Given the description of an element on the screen output the (x, y) to click on. 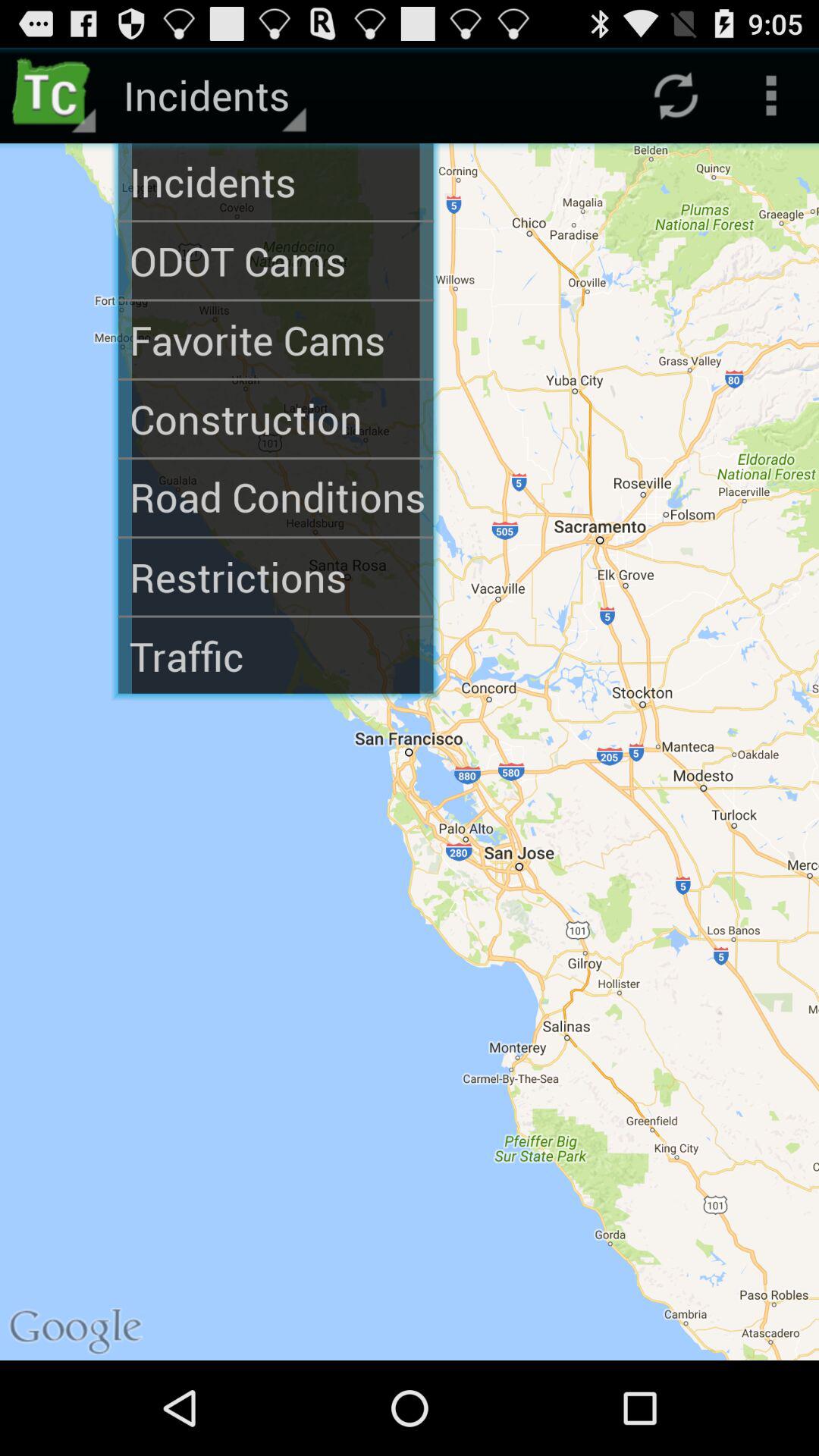
select traffic icon (275, 655)
